Given the description of an element on the screen output the (x, y) to click on. 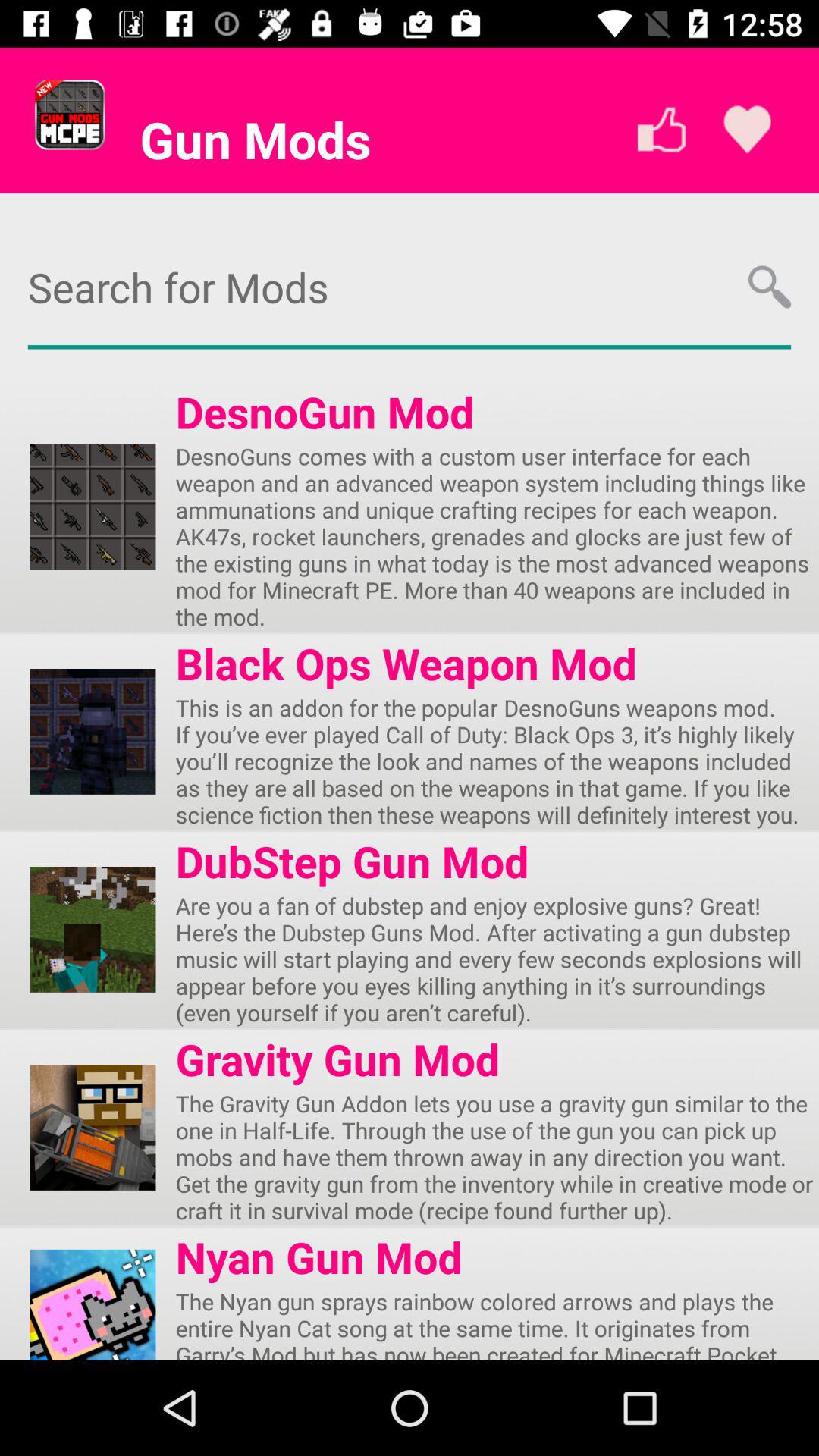
turn on app below desnogun mod icon (497, 535)
